Given the description of an element on the screen output the (x, y) to click on. 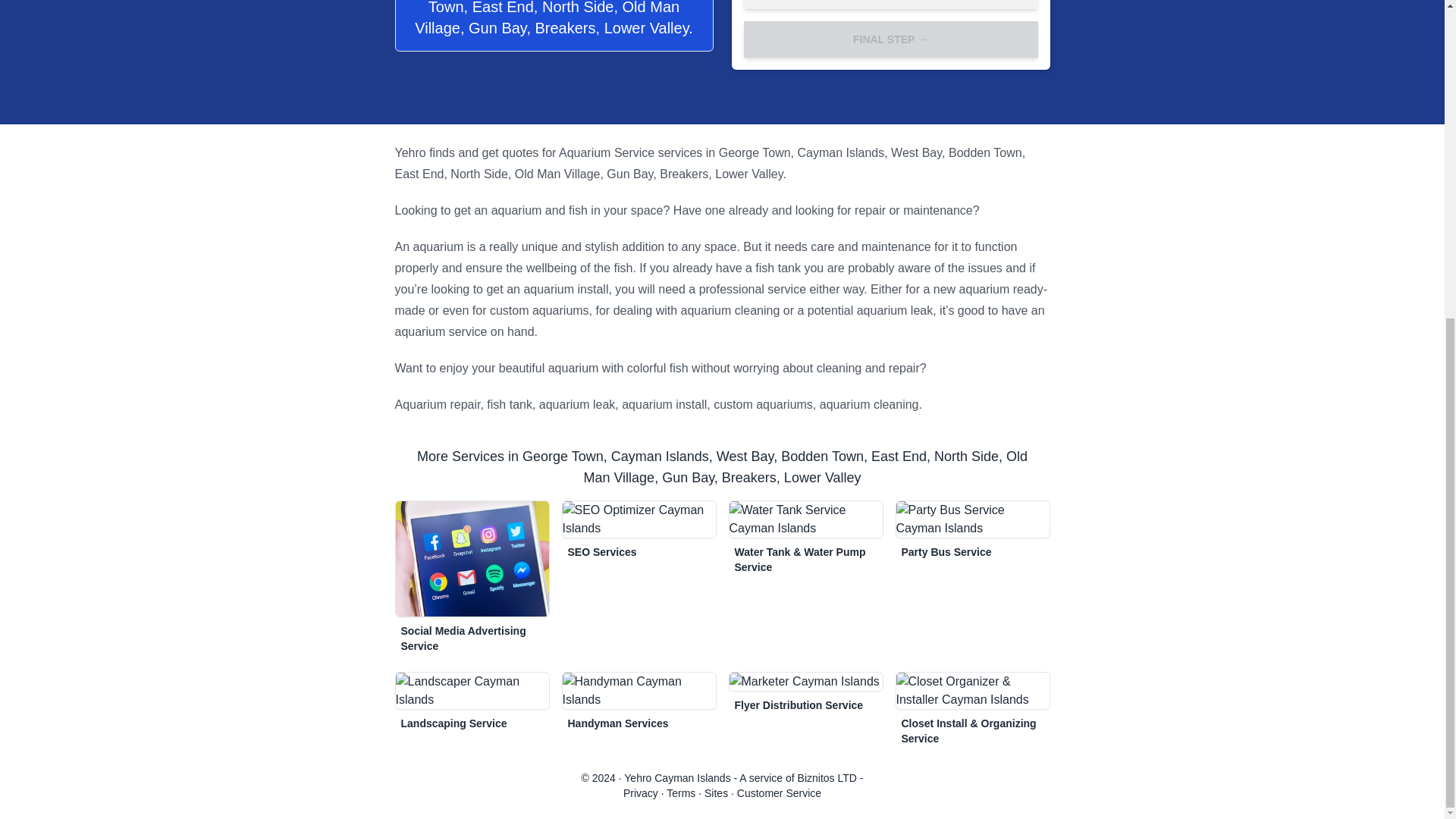
Cayman Islands Handyman (638, 689)
Sites (716, 792)
Biznitos LTD (827, 776)
Cayman Islands Water Tank Service (798, 559)
Cayman Islands Social Media Advertiser (462, 637)
Cayman Islands Marketer (798, 704)
Party Bus Service (946, 551)
Cayman Islands Landscaper (471, 689)
Cayman Islands SEO Optimizer (638, 519)
SEO Services (601, 551)
